Given the description of an element on the screen output the (x, y) to click on. 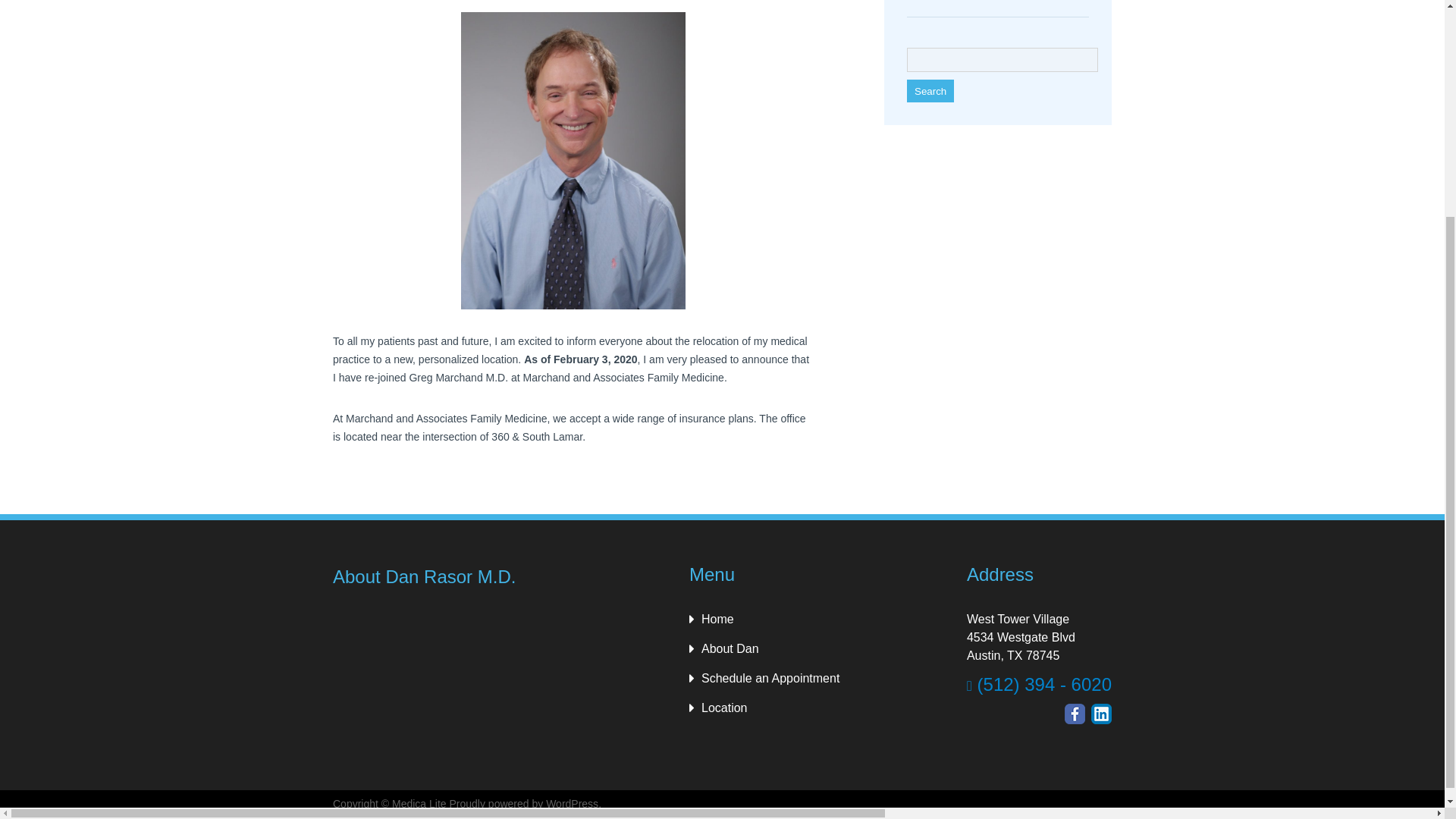
WordPress (572, 803)
Medica Lite (418, 803)
Location (721, 707)
WordPress (572, 803)
Search (930, 90)
Search (930, 90)
LinkedIn (1101, 713)
Home (713, 618)
Schedule an Appointment (767, 677)
About Dan (726, 648)
